Given the description of an element on the screen output the (x, y) to click on. 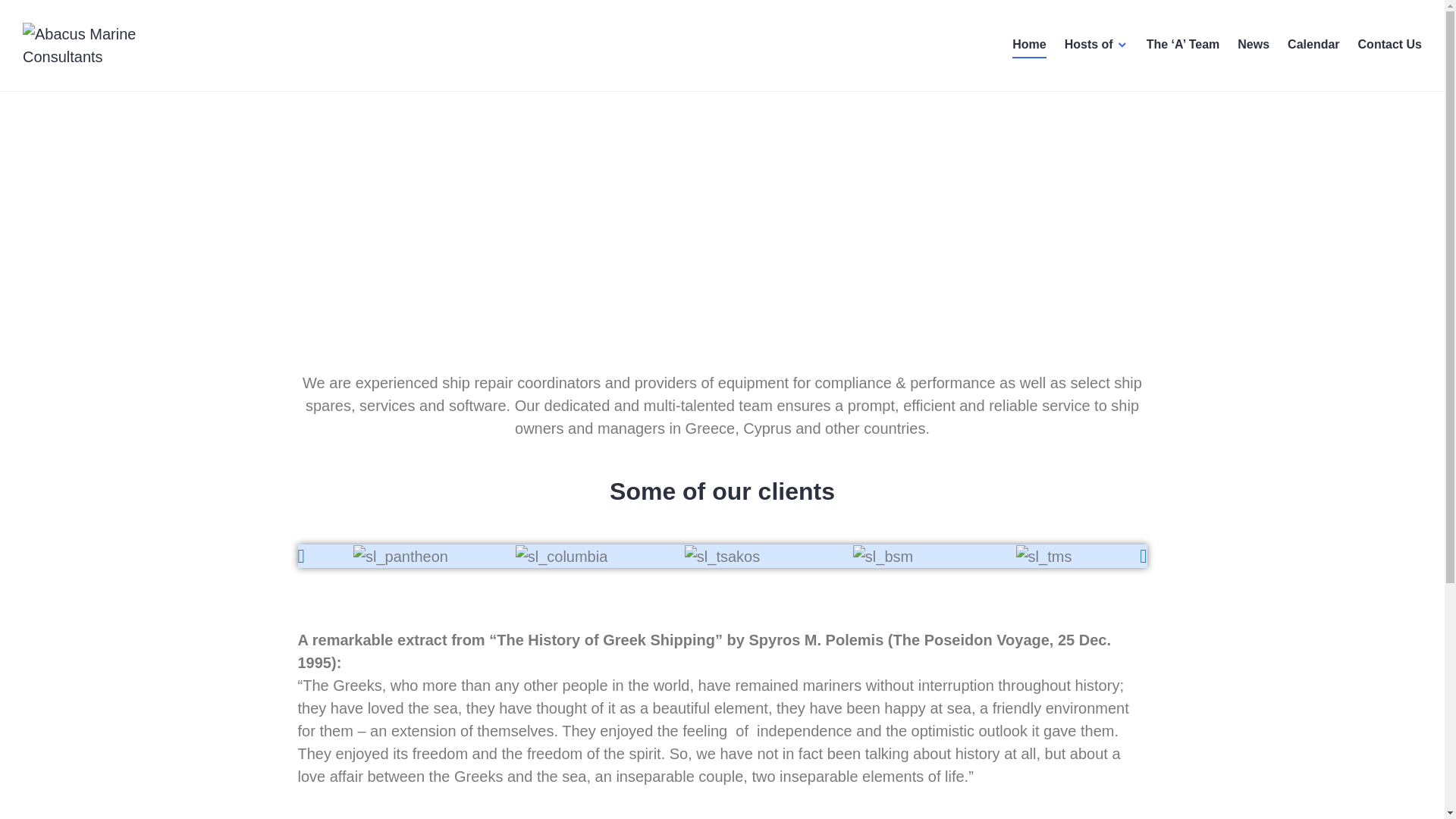
Hosts of (1096, 45)
Abacus Marine Consultants (147, 88)
Calendar (1313, 45)
Home (1028, 45)
News (1253, 45)
Contact Us (1390, 45)
